Given the description of an element on the screen output the (x, y) to click on. 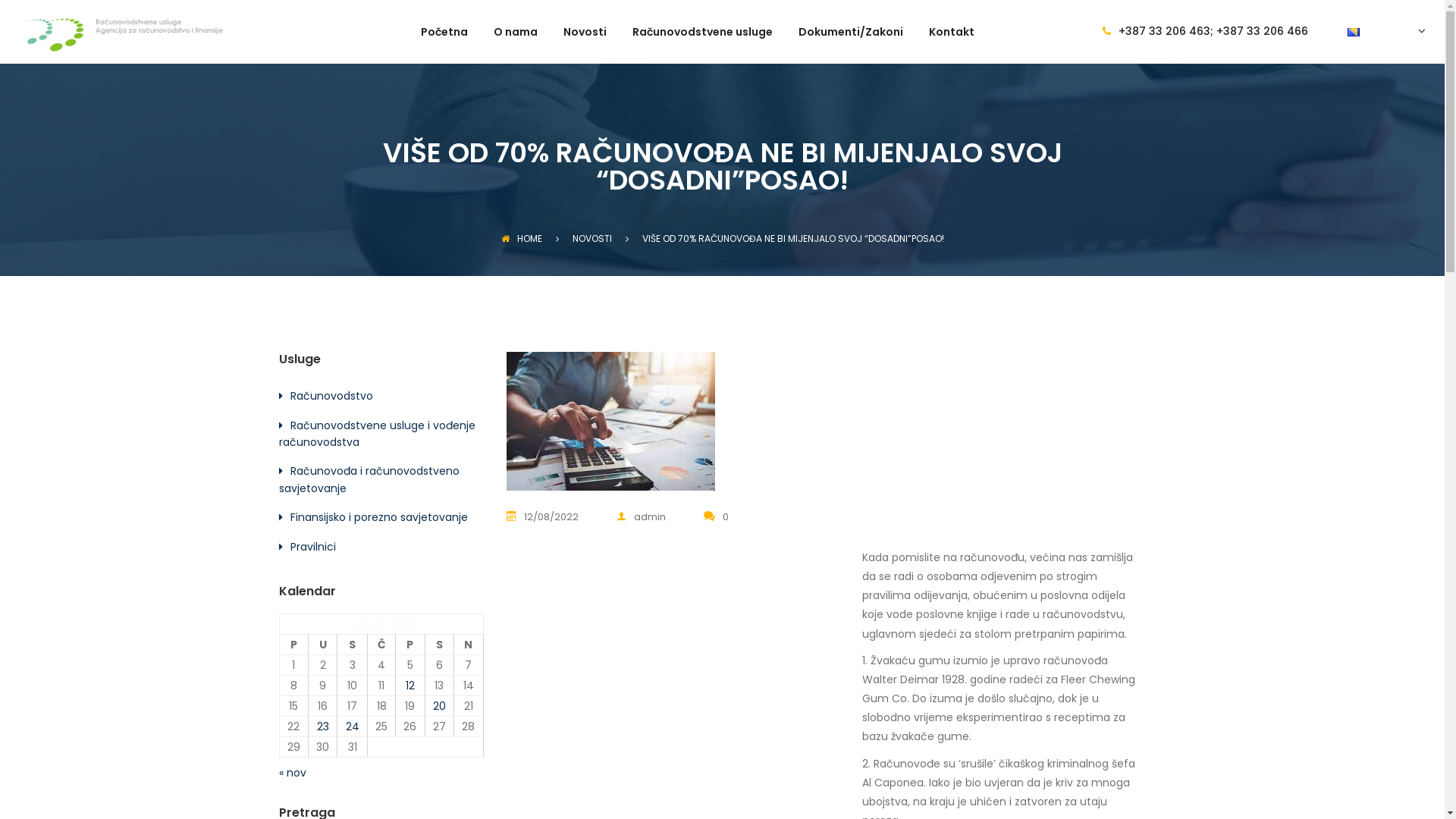
23 Element type: text (322, 726)
O nama Element type: text (515, 44)
NOVOSTI Element type: text (591, 238)
admin Element type: text (640, 517)
Finansijsko i porezno savjetovanje Element type: text (378, 516)
24 Element type: text (352, 726)
12 Element type: text (409, 685)
Dokumenti/Zakoni Element type: text (850, 44)
12/08/2022 Element type: text (551, 517)
HOME Element type: text (520, 238)
Pravilnici Element type: text (312, 546)
Kontakt Element type: text (951, 44)
20 Element type: text (439, 705)
Novosti Element type: text (584, 44)
